Given the description of an element on the screen output the (x, y) to click on. 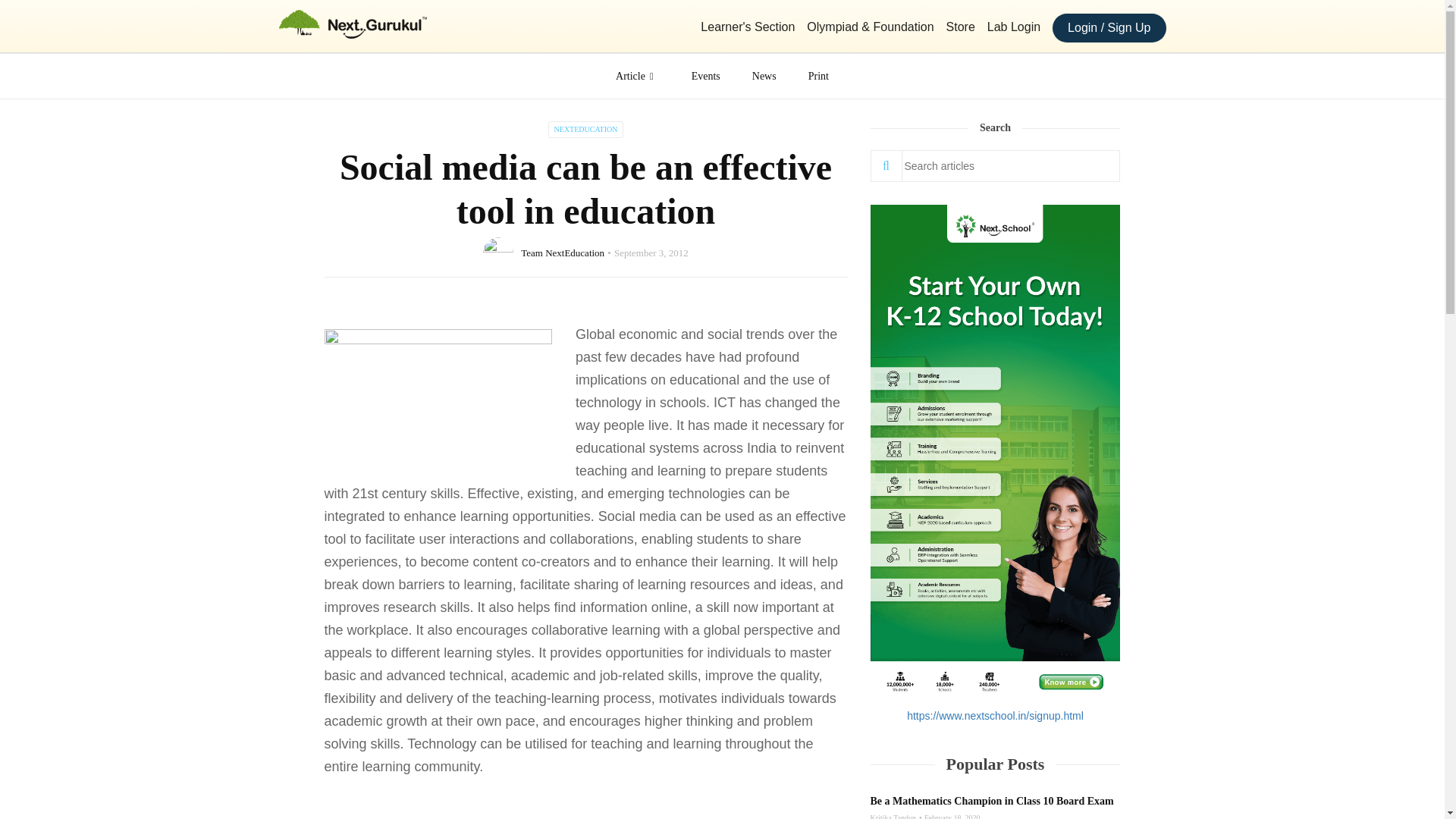
Print (11, 135)
Events (11, 79)
Store (960, 26)
Lab Login (1014, 26)
Article (11, 51)
News (11, 107)
Article (637, 76)
